Given the description of an element on the screen output the (x, y) to click on. 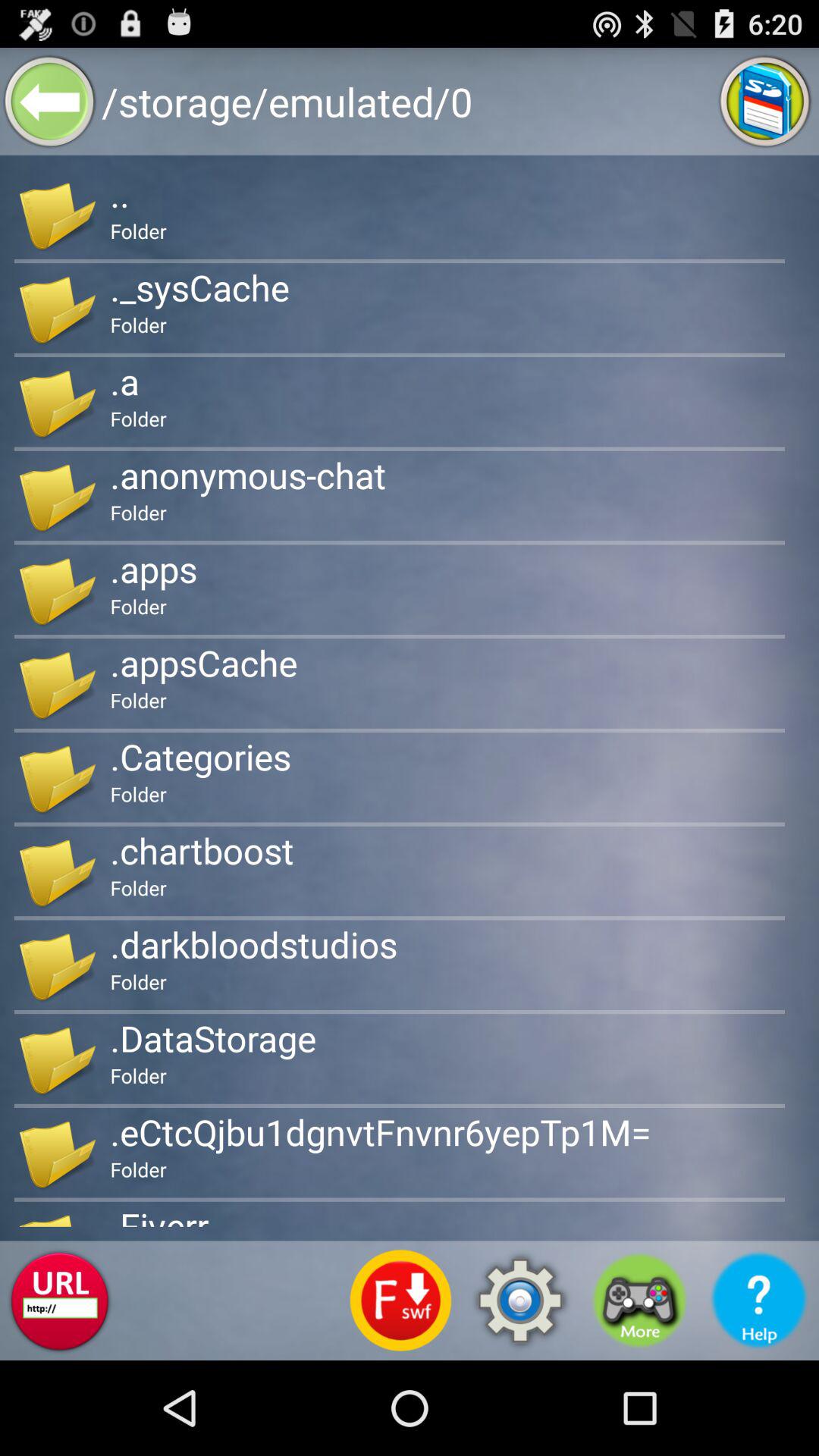
choose app next to the /storage/emulated/0 icon (49, 101)
